Given the description of an element on the screen output the (x, y) to click on. 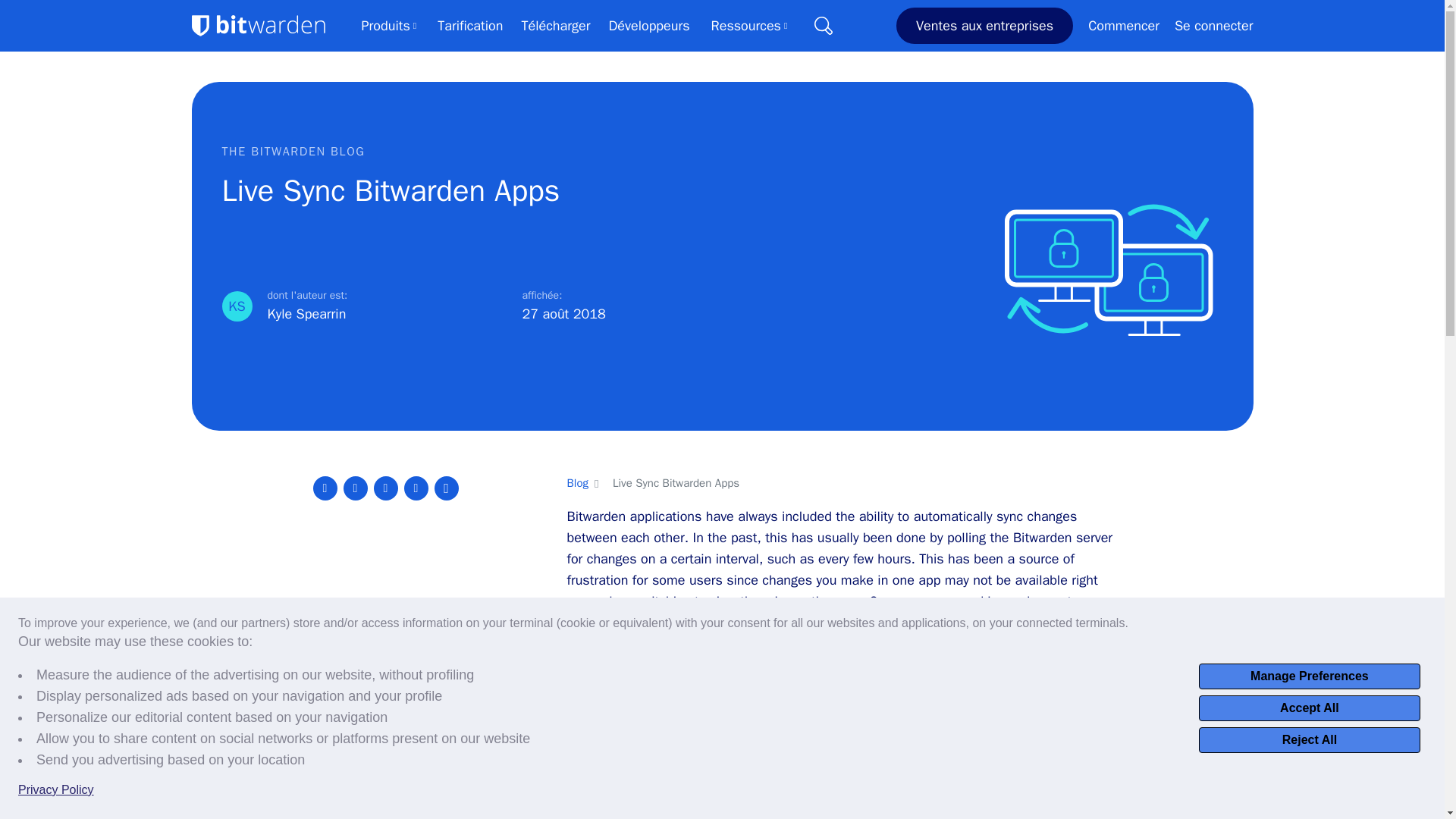
Copy Link (445, 487)
Ventes aux entreprises (984, 25)
Se connecter (1213, 25)
Tweet (324, 487)
LinkedIn (384, 487)
Manage Preferences (1309, 676)
Accept All (1309, 708)
Facebook (354, 487)
Privacy Policy (55, 789)
Email (415, 487)
